Given the description of an element on the screen output the (x, y) to click on. 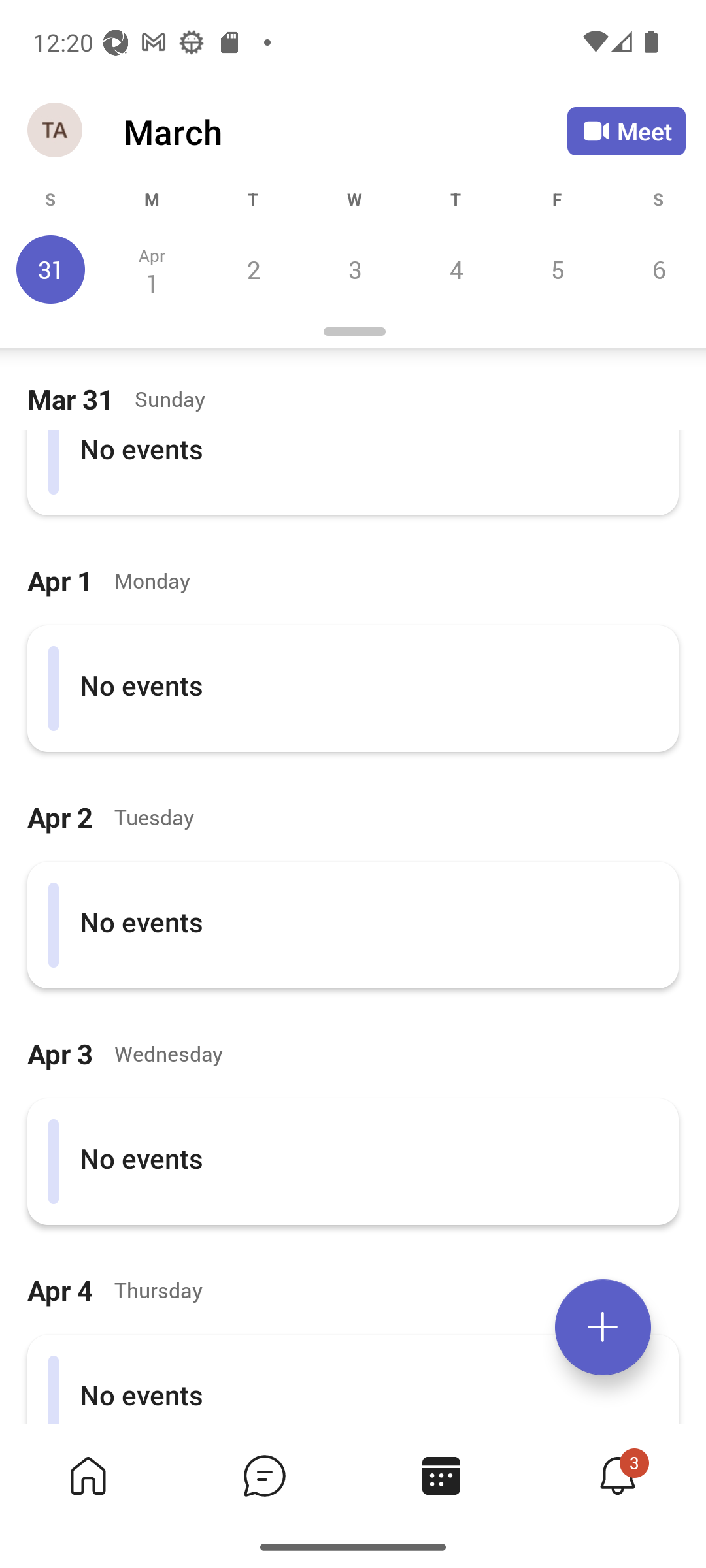
Navigation (56, 130)
Meet Meet now or join with an ID (626, 130)
March March Calendar Agenda View (345, 131)
Sunday, March 31, Selected 31 (50, 269)
Monday, April 1 Apr 1 (151, 269)
Tuesday, April 2 2 (253, 269)
Wednesday, April 3 3 (354, 269)
Thursday, April 4 4 (455, 269)
Friday, April 5 5 (556, 269)
Saturday, April 6 6 (656, 269)
Expand meetings menu (602, 1327)
Home tab,1 of 4, not selected (88, 1475)
Chat tab,2 of 4, not selected (264, 1475)
Calendar tab, 3 of 4 (441, 1475)
Activity tab,4 of 4, not selected, 3 new 3 (617, 1475)
